Given the description of an element on the screen output the (x, y) to click on. 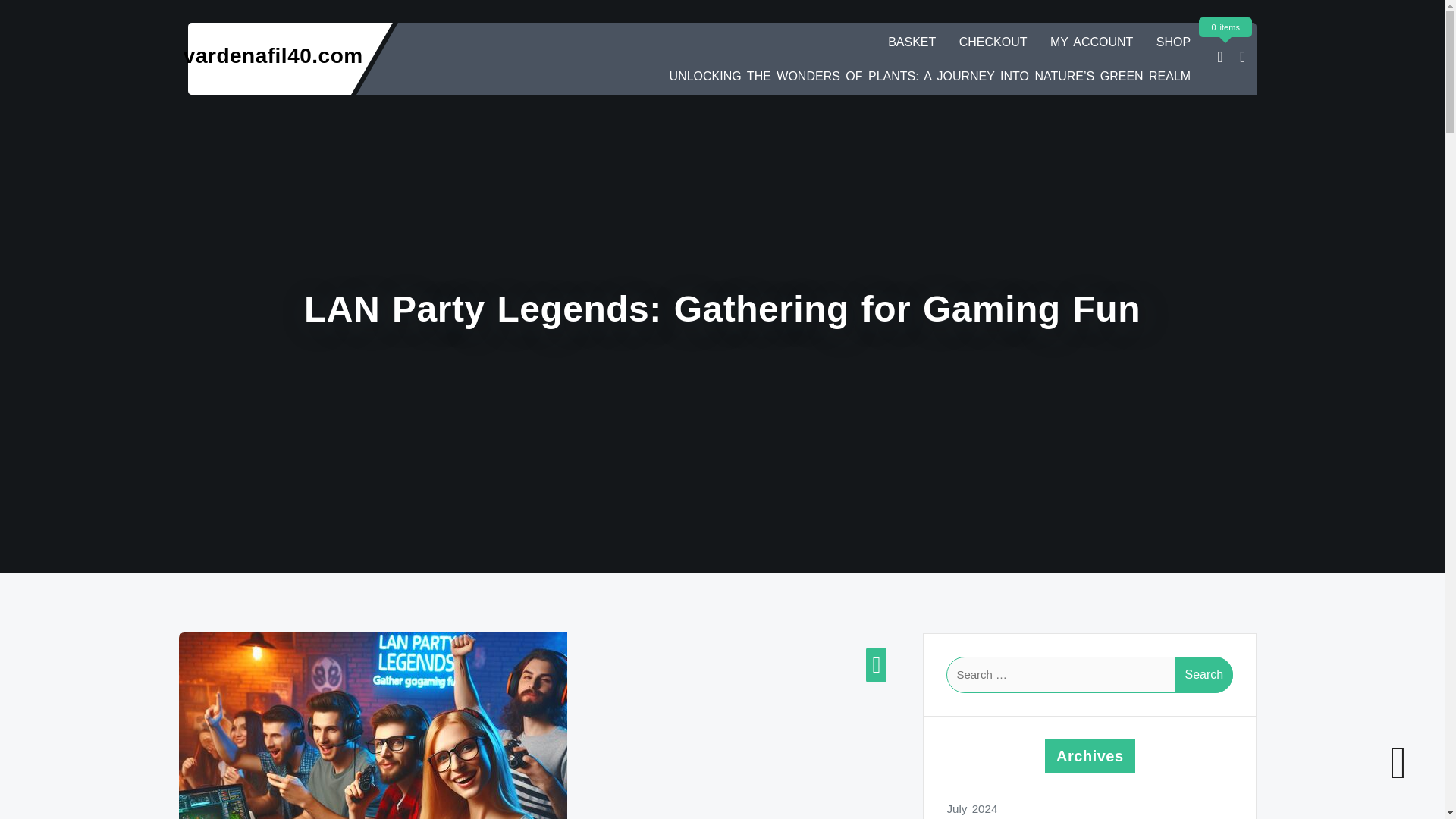
BASKET (911, 41)
SHOP (1173, 41)
CHECKOUT (993, 41)
Search (1203, 674)
Search (1203, 674)
vardenafil40.com (272, 55)
Search (1203, 674)
MY ACCOUNT (1091, 41)
July 2024 (1089, 808)
